Given the description of an element on the screen output the (x, y) to click on. 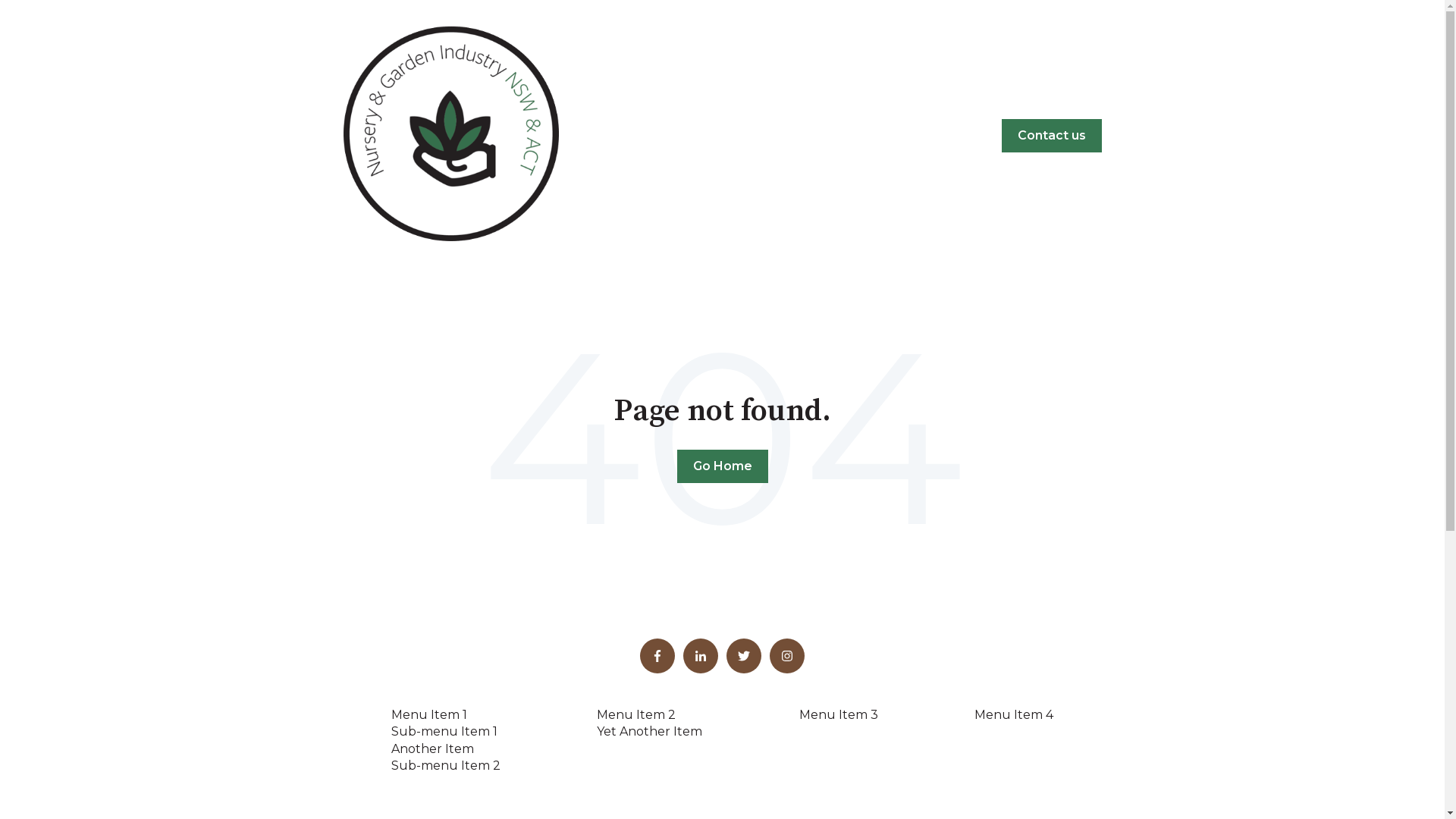
Sub-menu Item 1 Element type: text (444, 731)
Yet Another Item Element type: text (649, 731)
Menu Item 1 Element type: text (429, 714)
Contact us Element type: text (1051, 135)
Menu Item 4 Element type: text (1013, 714)
Sub-menu Item 2 Element type: text (445, 765)
Menu Item 3 Element type: text (838, 714)
Go Home Element type: text (721, 466)
Menu Item 2 Element type: text (635, 714)
Another Item Element type: text (432, 748)
